Given the description of an element on the screen output the (x, y) to click on. 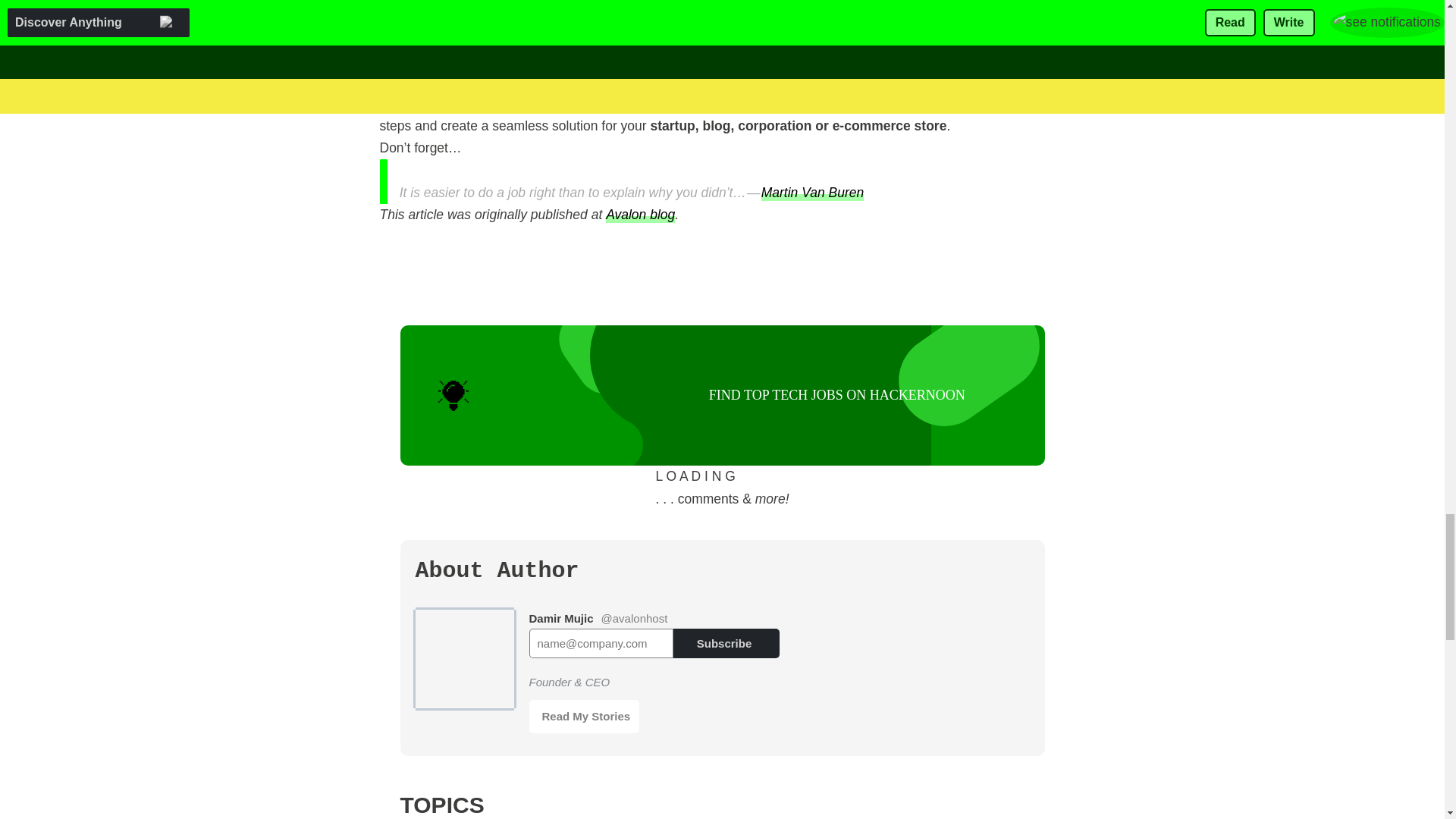
Avalon blog (640, 213)
Subscribe (725, 643)
Avalon (721, 103)
Martin Van Buren (812, 191)
Read My Stories (584, 716)
Cloud hosting (419, 0)
